Given the description of an element on the screen output the (x, y) to click on. 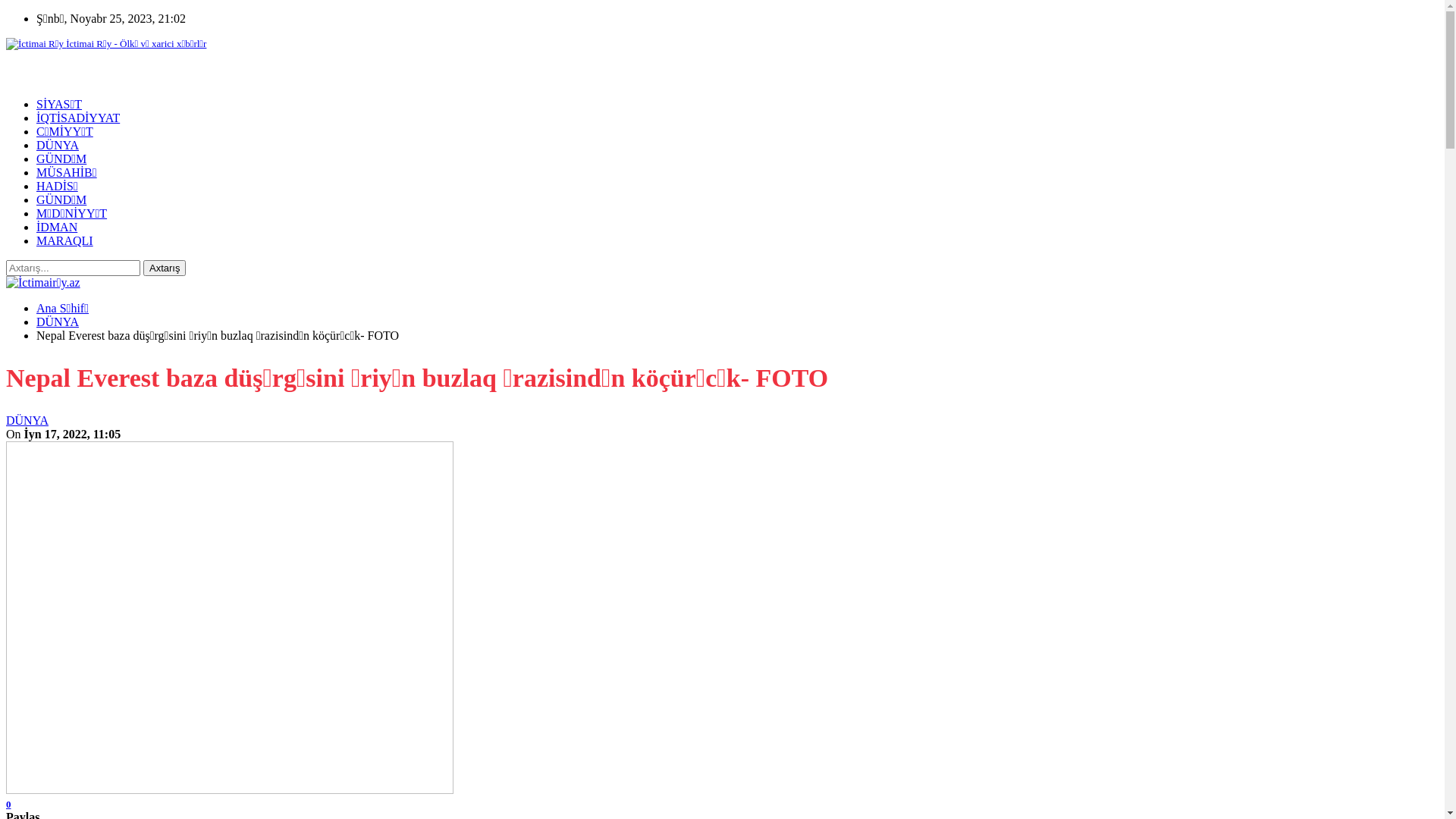
MARAQLI Element type: text (64, 240)
Search for: Element type: hover (73, 268)
0 Element type: text (8, 803)
